Given the description of an element on the screen output the (x, y) to click on. 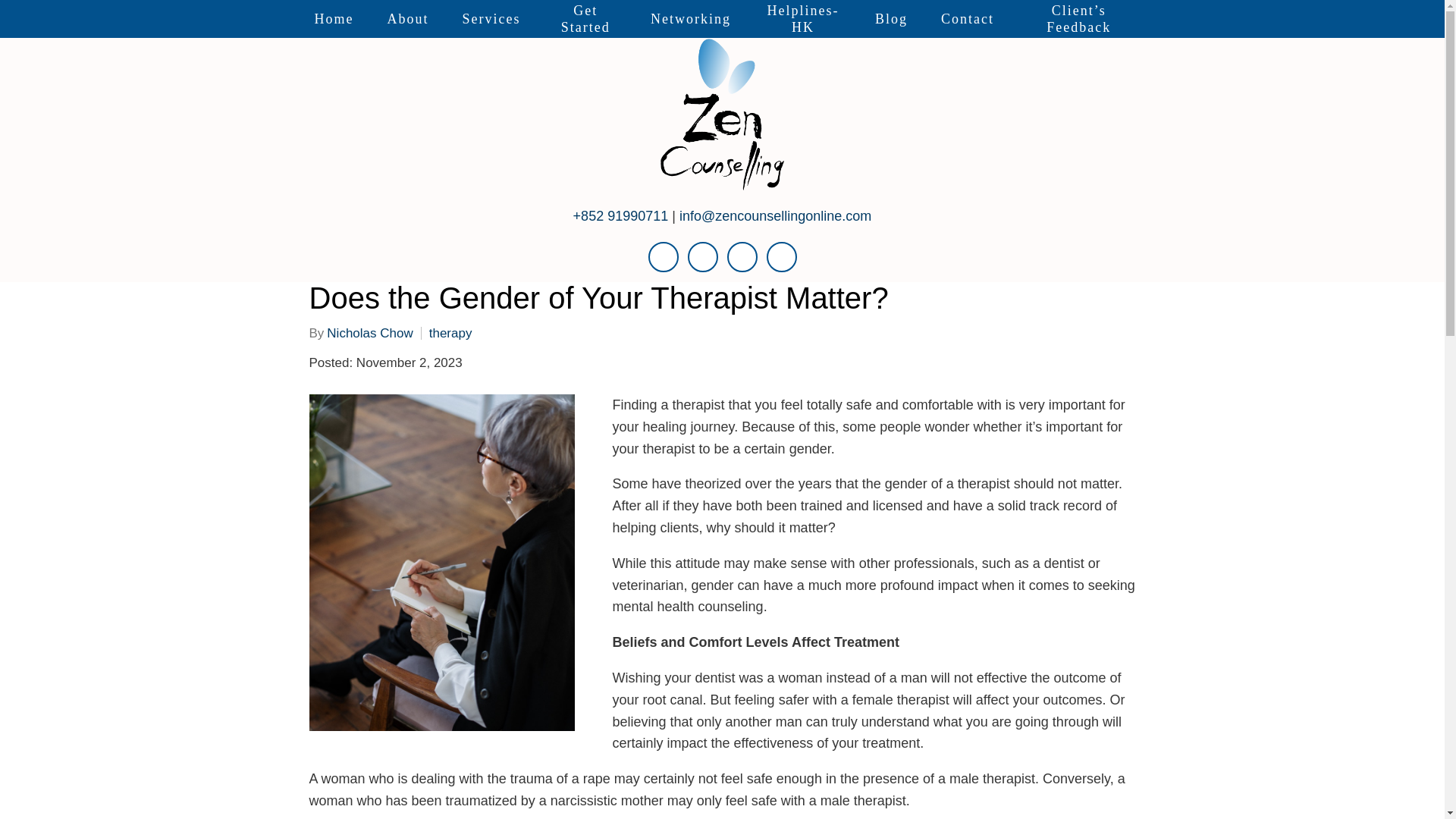
Home (333, 18)
Get Started (585, 18)
Posts by Nicholas Chow (369, 332)
Networking (690, 18)
Services (491, 18)
About (407, 18)
Contact (967, 18)
Helplines-HK (803, 18)
Blog (891, 18)
